Given the description of an element on the screen output the (x, y) to click on. 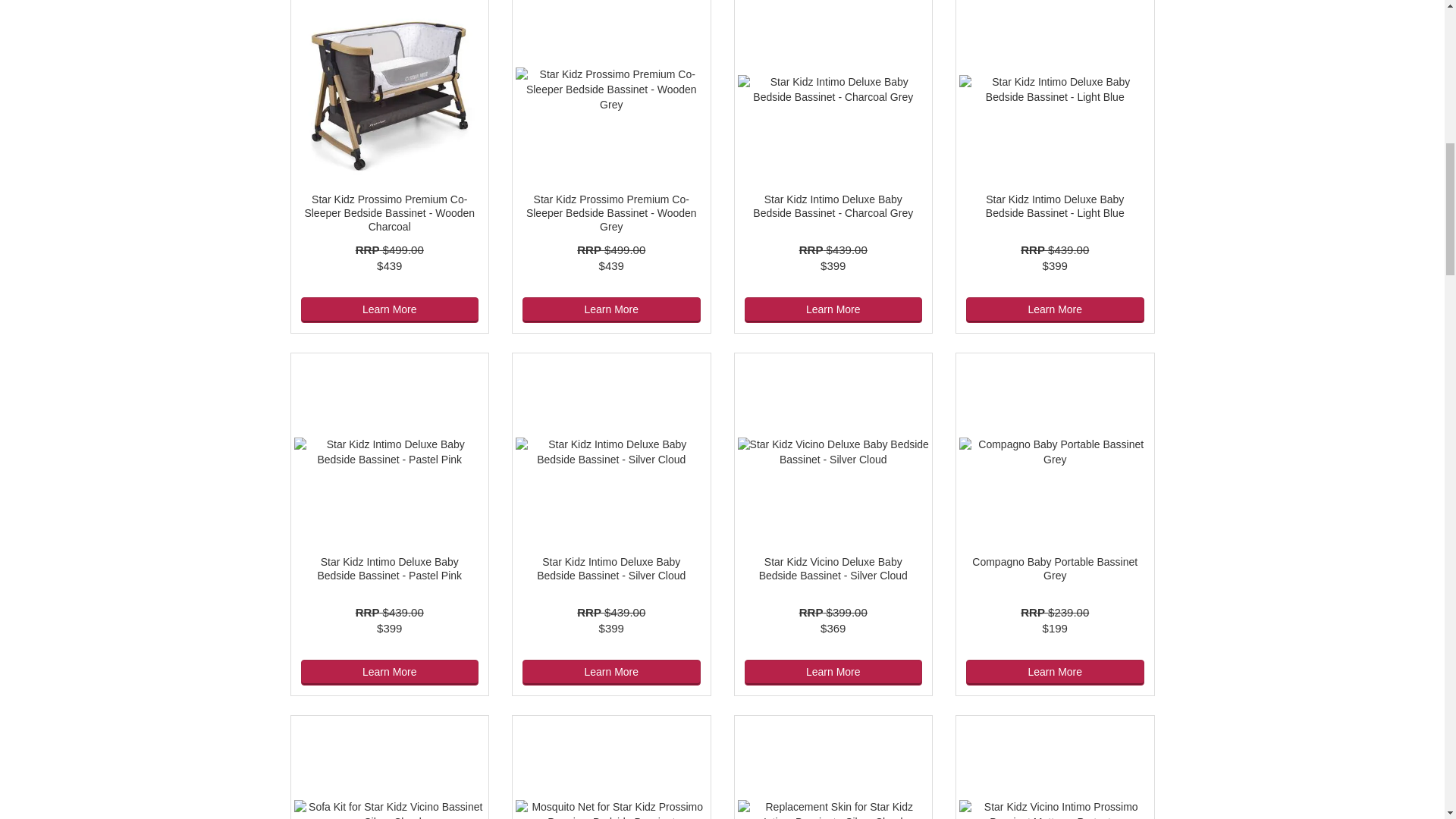
Star Kidz Intimo Deluxe Baby Bedside Bassinet - Pastel Pink (389, 568)
Star Kidz Intimo Deluxe Baby Bedside Bassinet - Light Blue (1054, 206)
Learn More (389, 309)
Learn More (833, 309)
Learn More (1055, 309)
Learn More (611, 309)
